Given the description of an element on the screen output the (x, y) to click on. 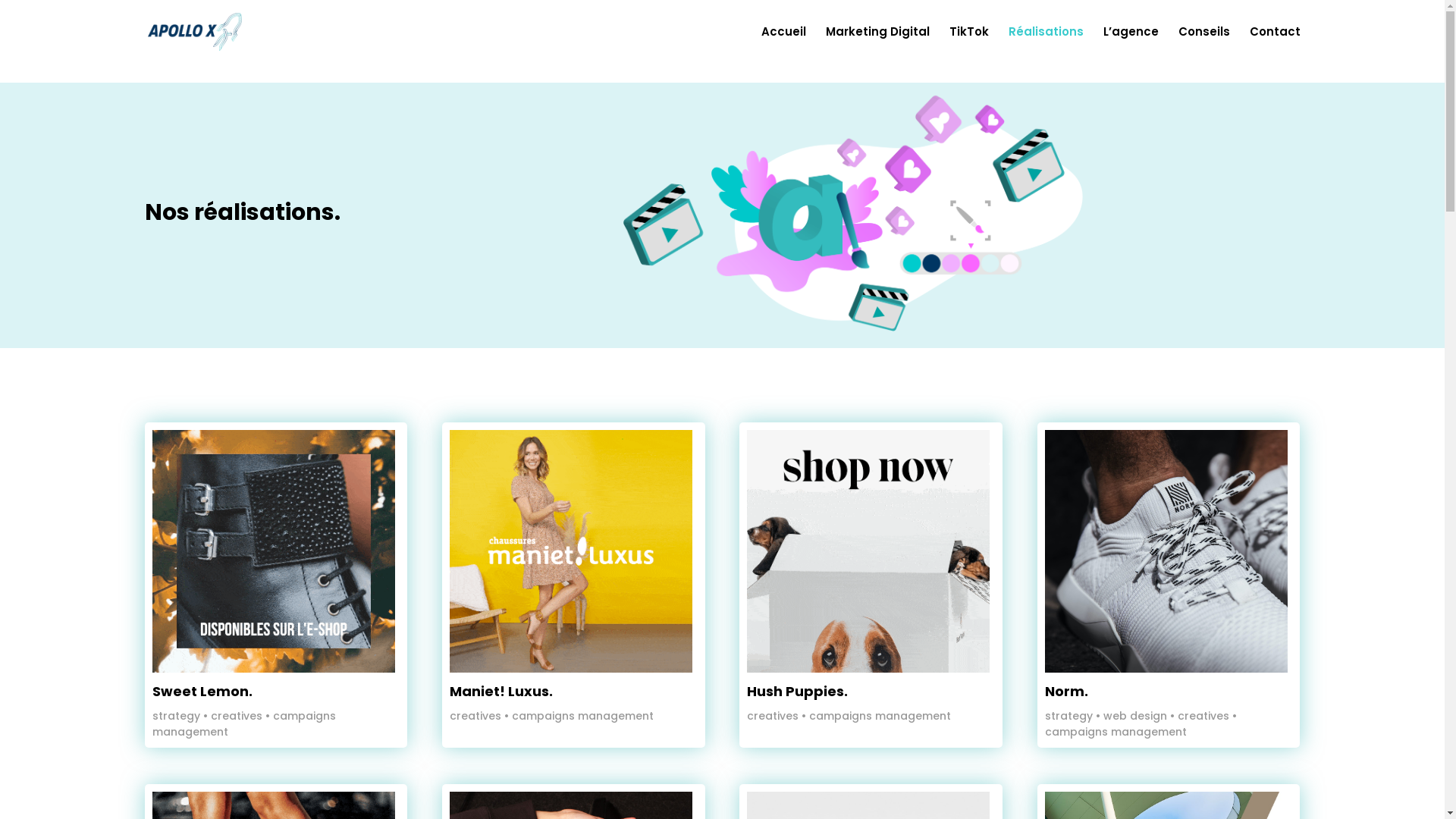
TikTok Element type: text (968, 44)
Contact Element type: text (1274, 44)
Conseils Element type: text (1204, 44)
Accueil Element type: text (783, 44)
Marketing Digital Element type: text (876, 44)
